Given the description of an element on the screen output the (x, y) to click on. 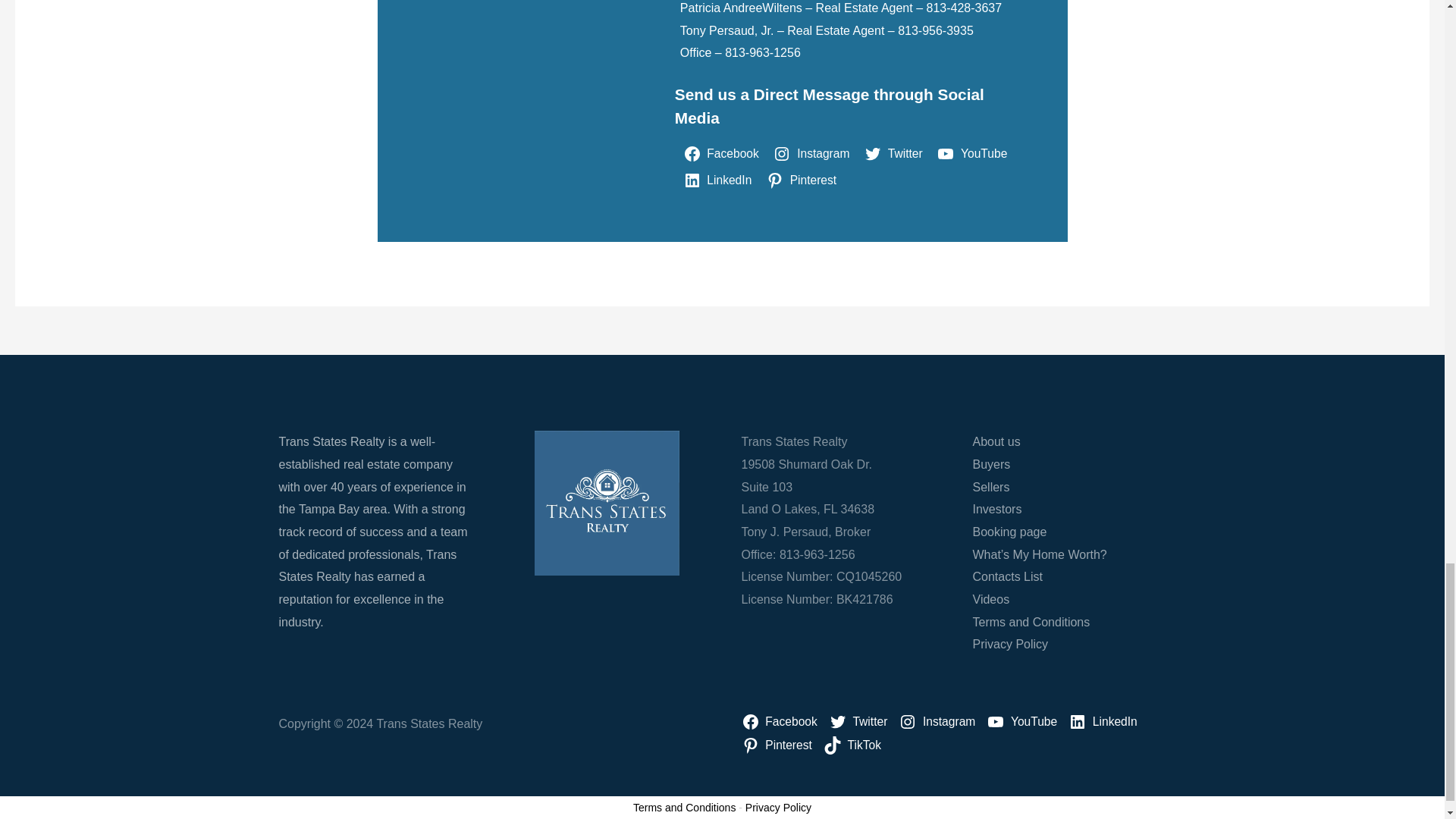
Contacts List (1007, 576)
Sellers (990, 486)
Buyers (991, 463)
Videos (990, 599)
Terms and Conditions (1030, 621)
About us (996, 440)
Privacy Policy (1010, 644)
Facebook (782, 721)
Facebook (723, 153)
Twitter (895, 153)
